Given the description of an element on the screen output the (x, y) to click on. 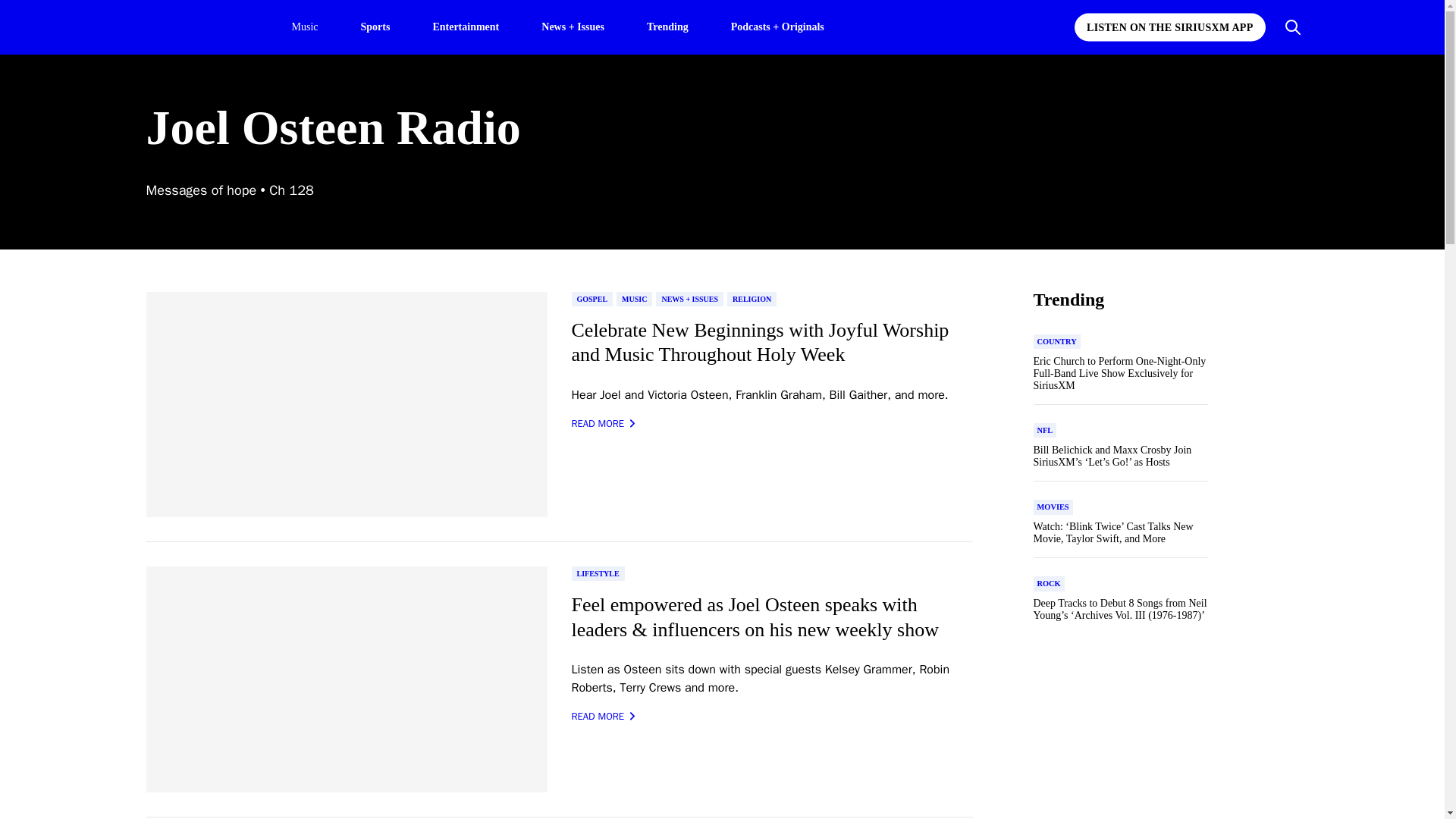
Entertainment (465, 26)
Music (304, 26)
RELIGION (751, 298)
READ MORE (603, 423)
Sports (375, 26)
LIFESTYLE (598, 573)
Trending (667, 26)
READ MORE (603, 716)
MUSIC (633, 298)
